Given the description of an element on the screen output the (x, y) to click on. 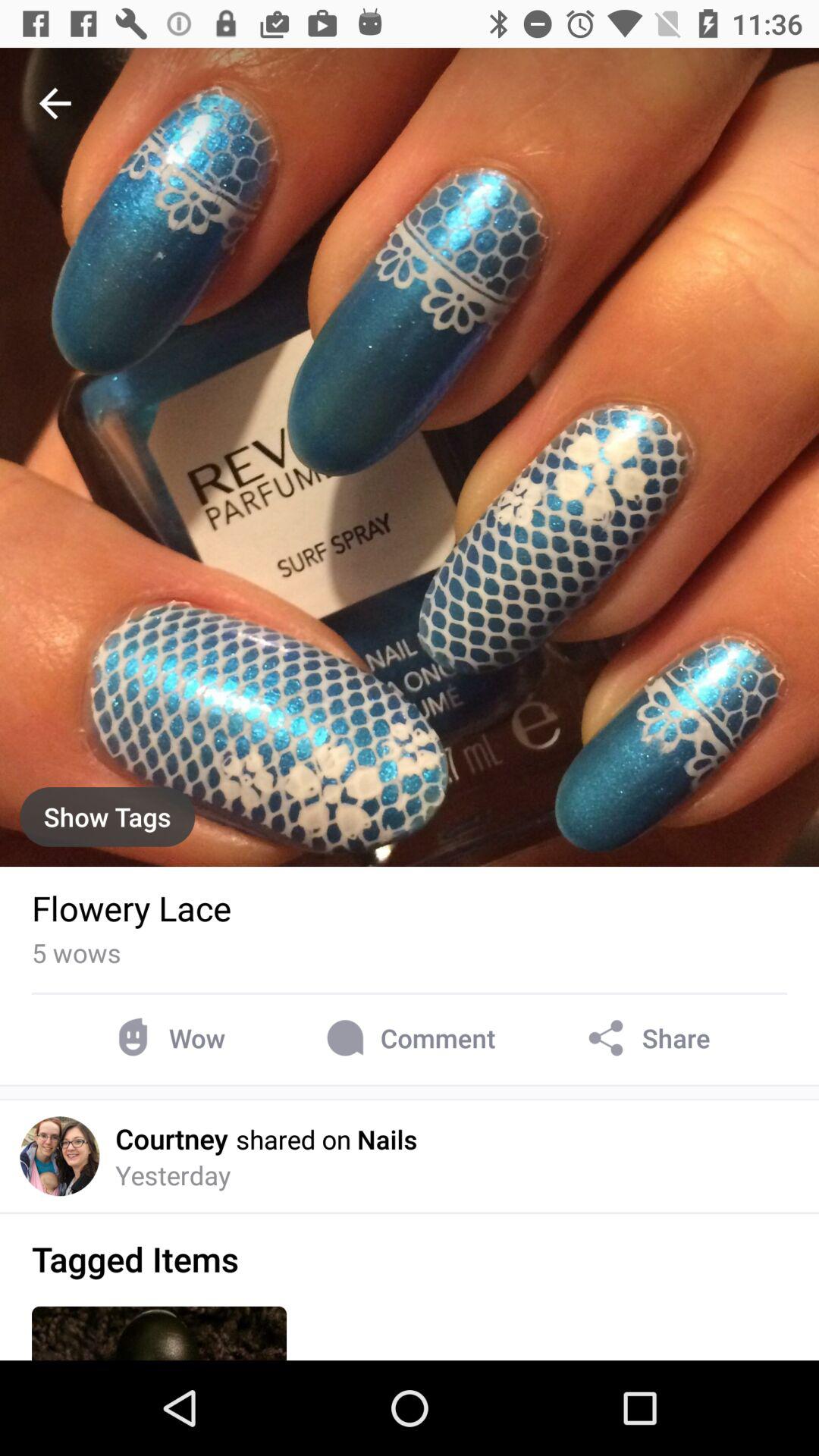
turn off the icon above the show tags item (55, 103)
